Given the description of an element on the screen output the (x, y) to click on. 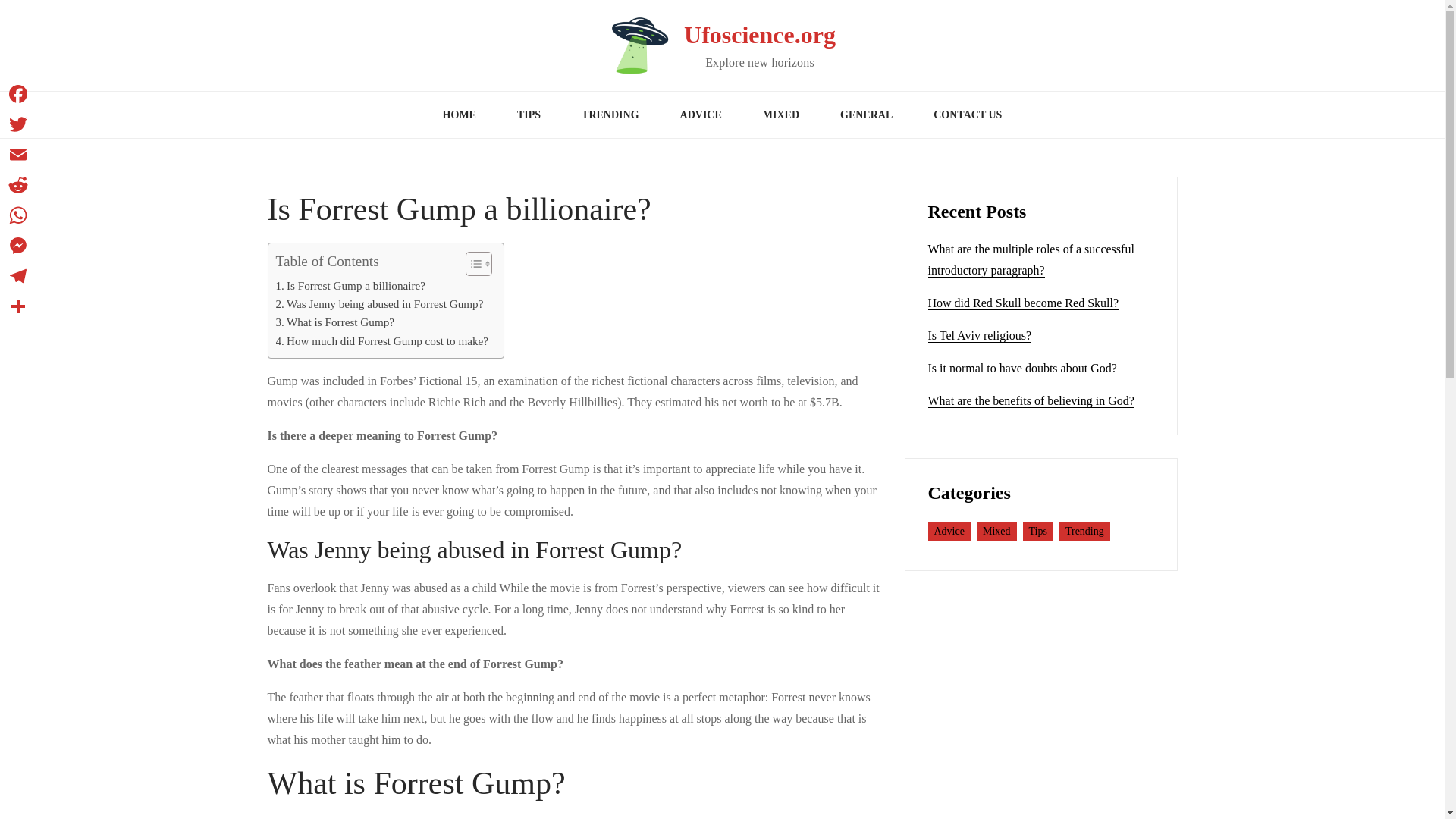
How much did Forrest Gump cost to make? (382, 341)
Is Forrest Gump a billionaire? (350, 285)
Messenger (17, 245)
TIPS (528, 114)
HOME (459, 114)
Twitter (17, 123)
Is Tel Aviv religious? (980, 336)
Reddit (17, 184)
How much did Forrest Gump cost to make? (382, 341)
Ufoscience.org (759, 34)
